Given the description of an element on the screen output the (x, y) to click on. 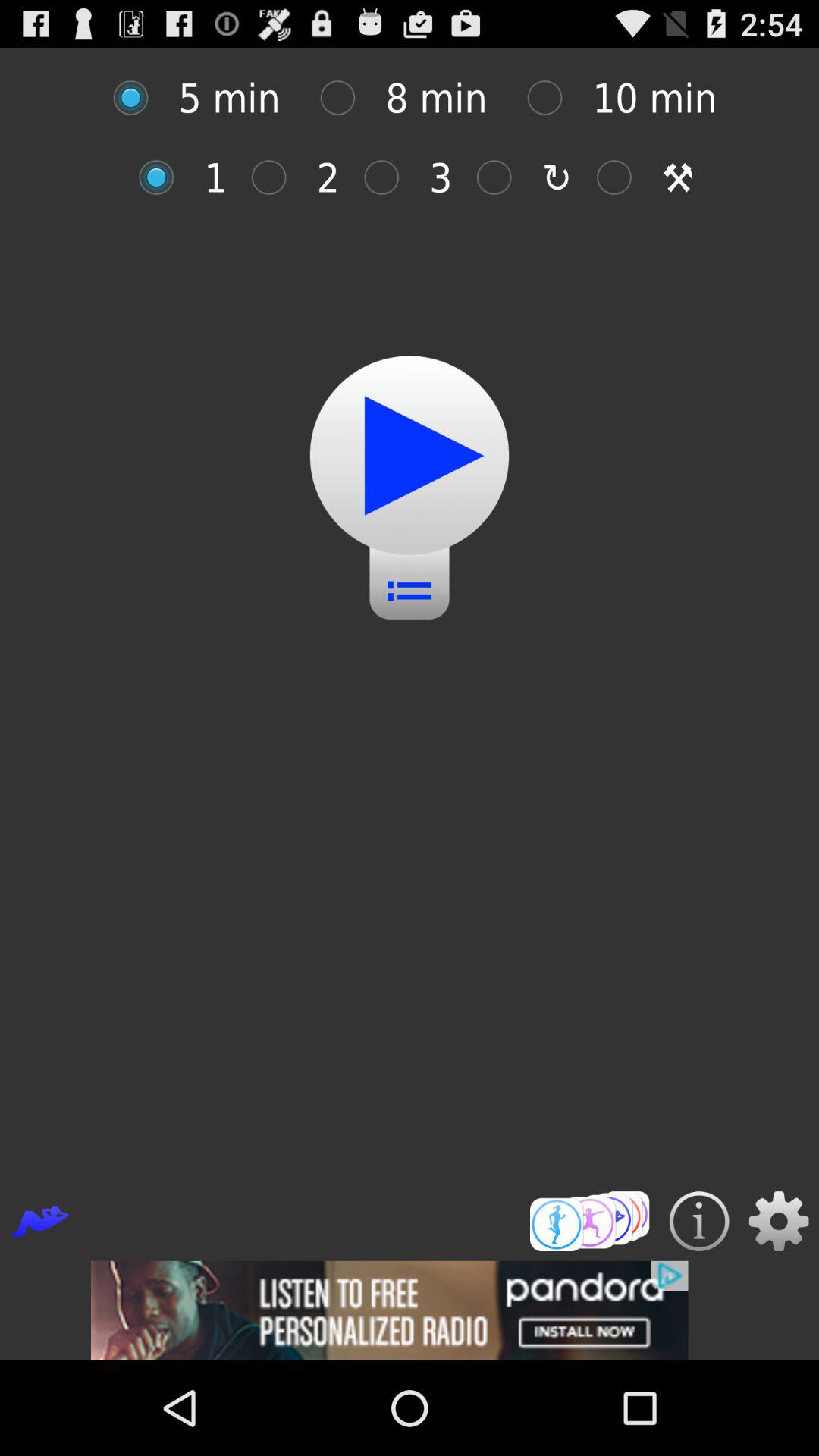
option (502, 177)
